Given the description of an element on the screen output the (x, y) to click on. 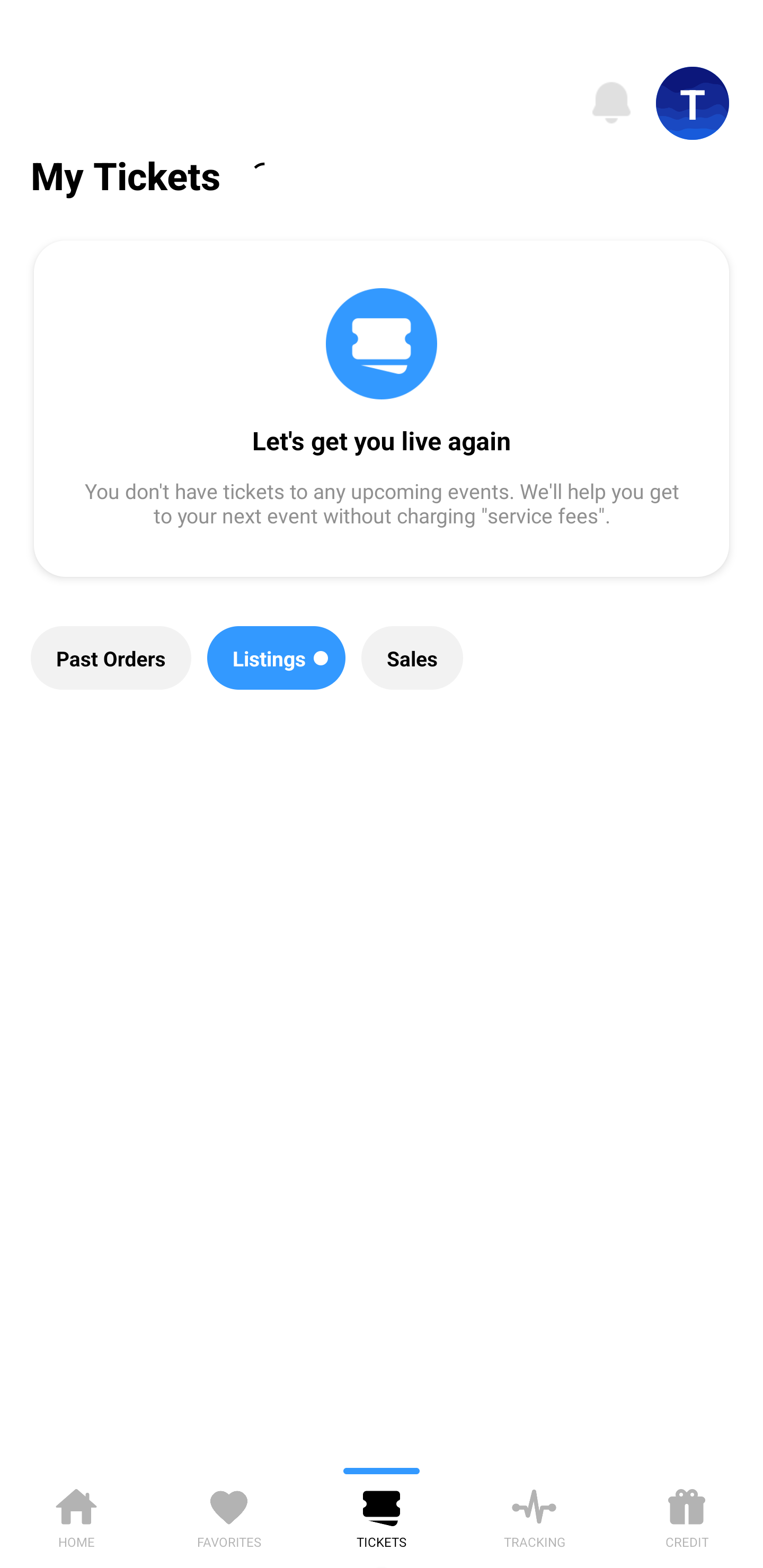
T (692, 103)
Past Orders (110, 657)
Listings (276, 657)
Sales (412, 657)
HOME (76, 1515)
FAVORITES (228, 1515)
TICKETS (381, 1515)
TRACKING (533, 1515)
CREDIT (686, 1515)
